Given the description of an element on the screen output the (x, y) to click on. 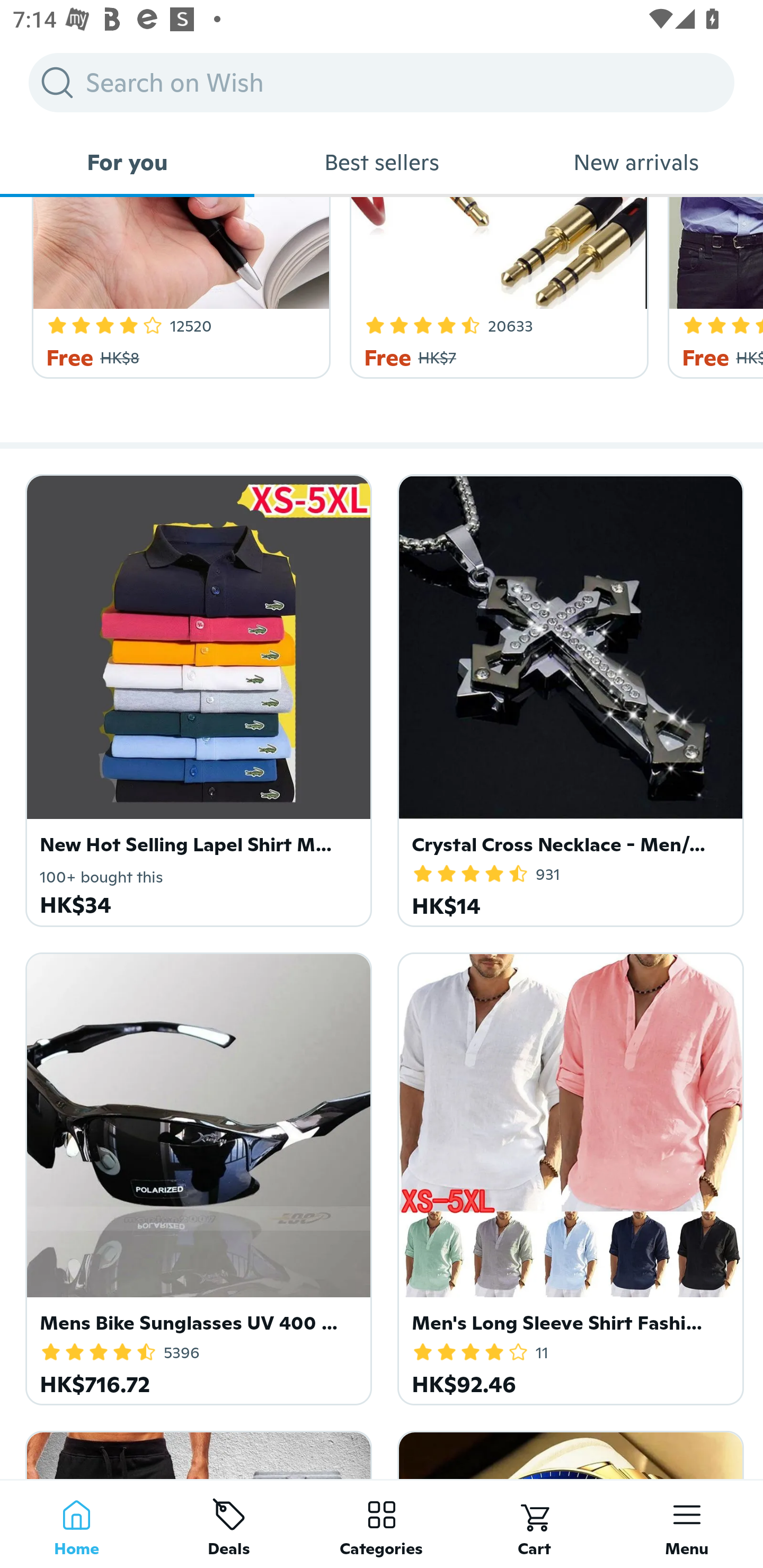
Search on Wish (381, 82)
For you (127, 161)
Best sellers (381, 161)
New arrivals (635, 161)
3.9 Star Rating 12520 Free HK$8 (177, 288)
4.3 Star Rating 20633 Free HK$7 (495, 288)
Home (76, 1523)
Deals (228, 1523)
Categories (381, 1523)
Cart (533, 1523)
Menu (686, 1523)
